Given the description of an element on the screen output the (x, y) to click on. 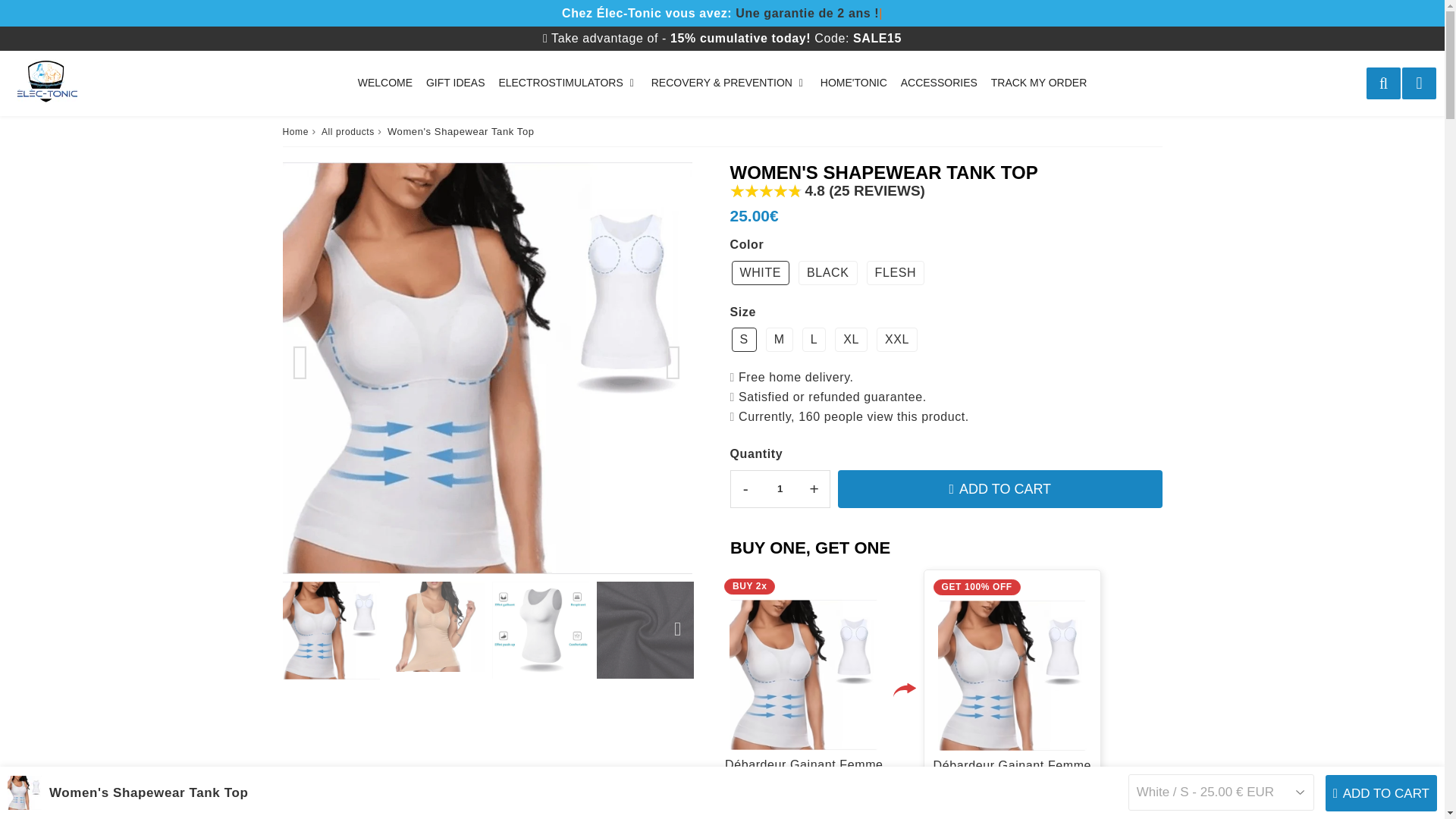
Previous (300, 362)
ACCESSORIES (938, 82)
All products (347, 132)
Next (673, 362)
Next (677, 629)
Back to the frontpage (294, 132)
TRACK MY ORDER (1039, 82)
1 (779, 488)
ELECTROSTIMULATORS (567, 82)
GIFT IDEAS (455, 82)
HOME'TONIC (853, 82)
ADD TO CART (999, 488)
WELCOME (384, 82)
Home (294, 132)
